Given the description of an element on the screen output the (x, y) to click on. 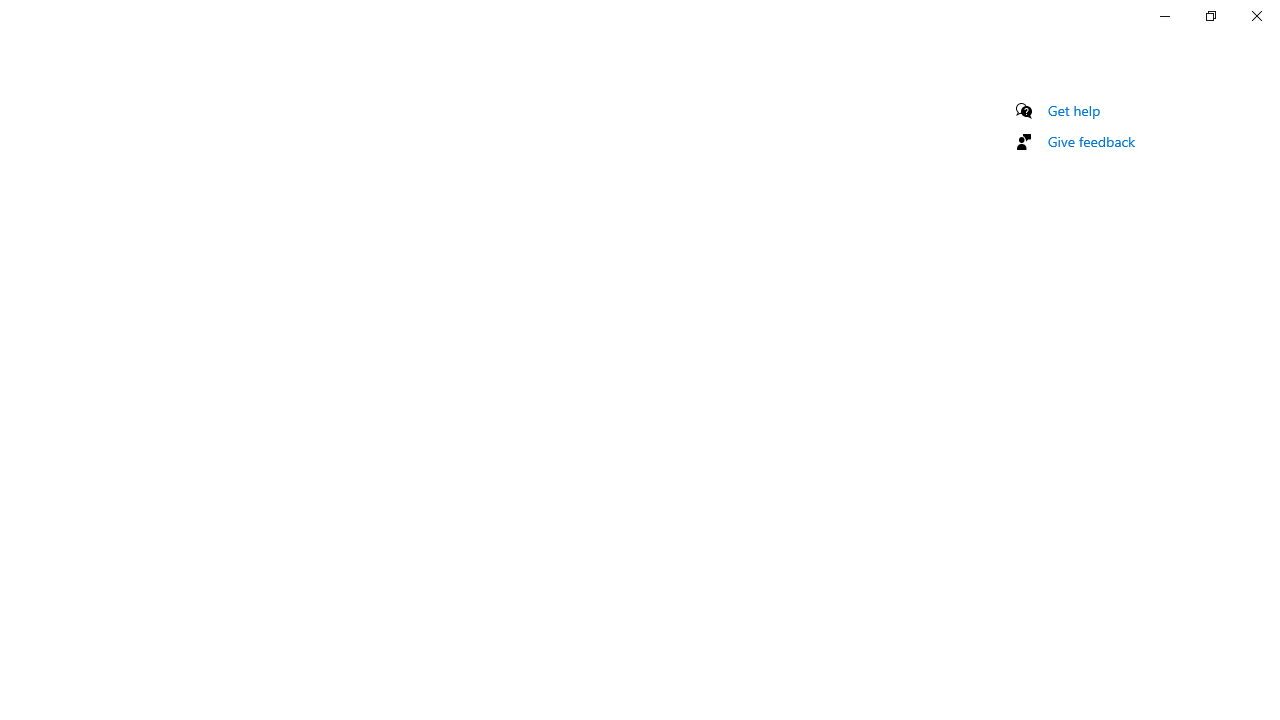
Give feedback (1091, 141)
Get help (1074, 110)
Minimize Settings (1164, 15)
Close Settings (1256, 15)
Restore Settings (1210, 15)
